Given the description of an element on the screen output the (x, y) to click on. 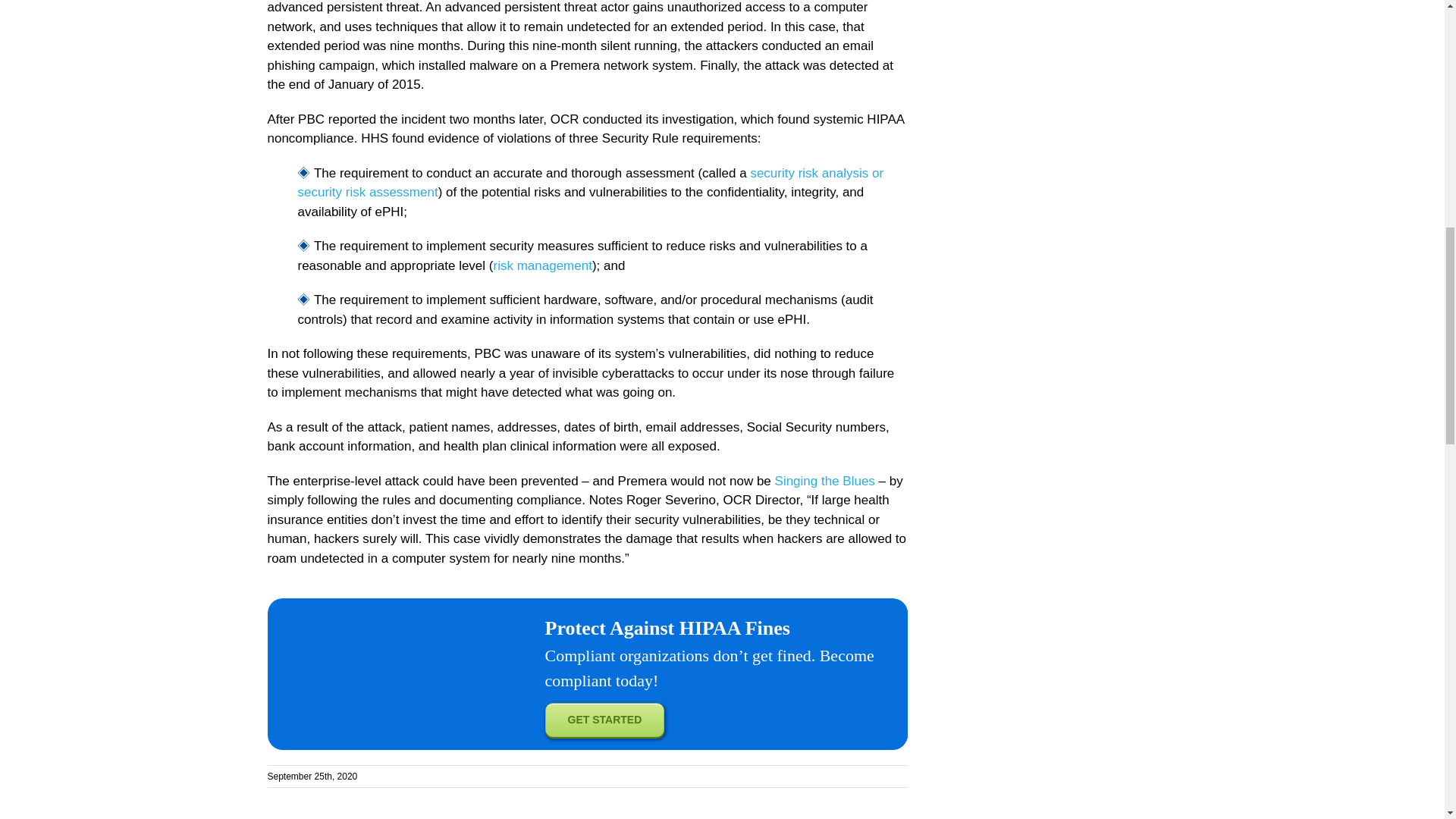
Global CTAs (367, 674)
